Given the description of an element on the screen output the (x, y) to click on. 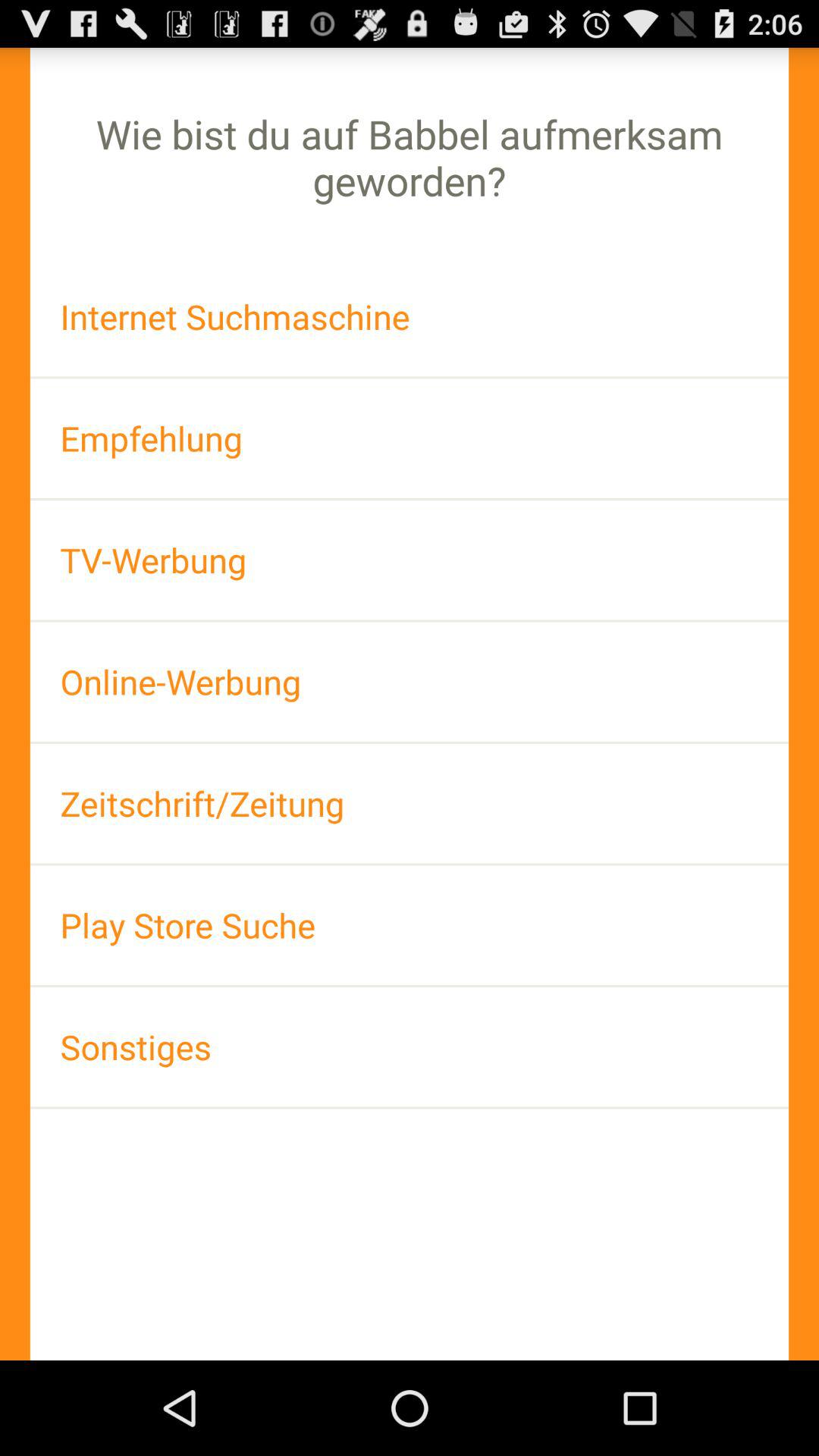
flip until the internet suchmaschine item (409, 316)
